Given the description of an element on the screen output the (x, y) to click on. 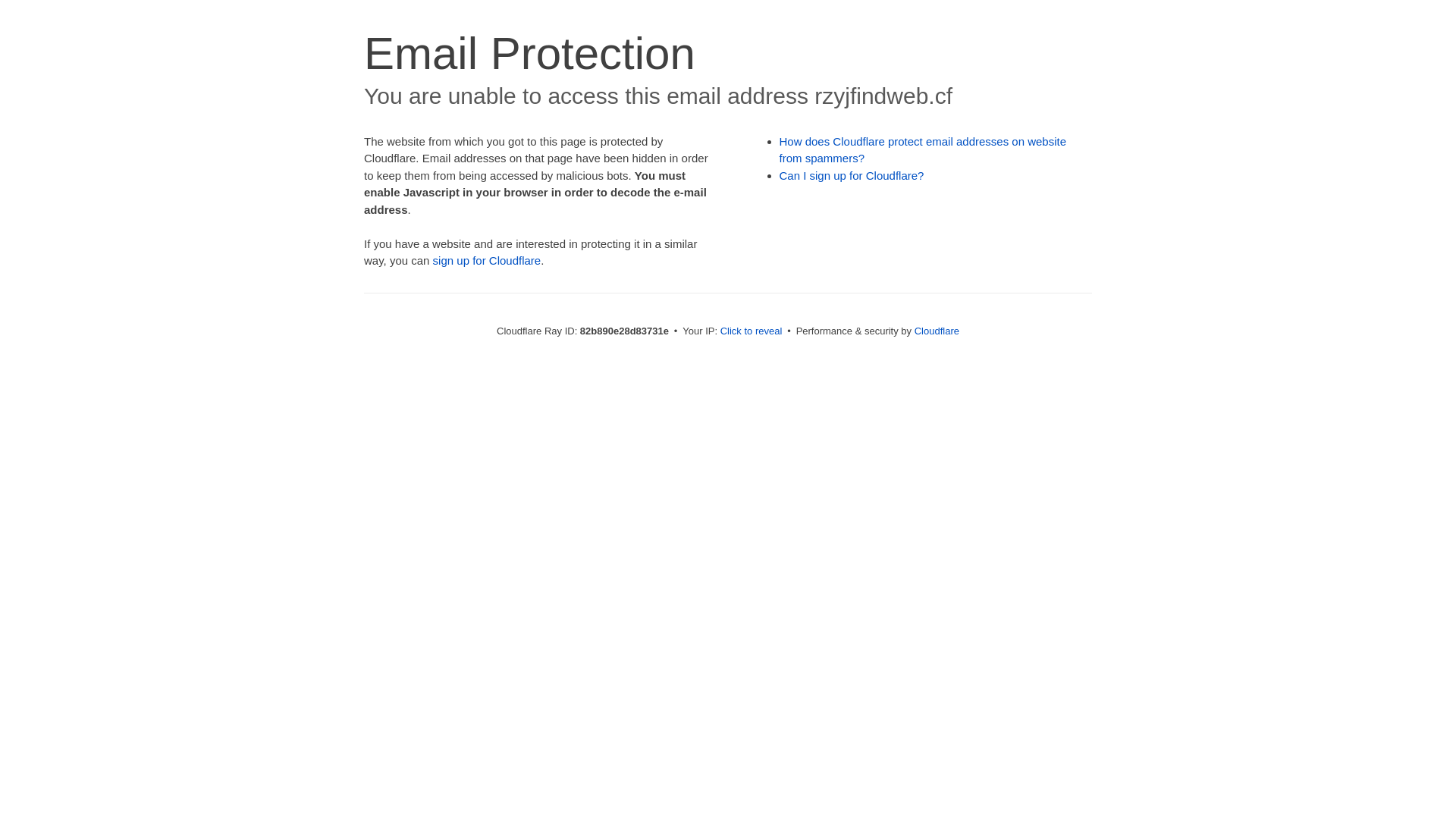
sign up for Cloudflare Element type: text (487, 260)
Cloudflare Element type: text (936, 330)
Can I sign up for Cloudflare? Element type: text (851, 175)
Click to reveal Element type: text (751, 330)
